Given the description of an element on the screen output the (x, y) to click on. 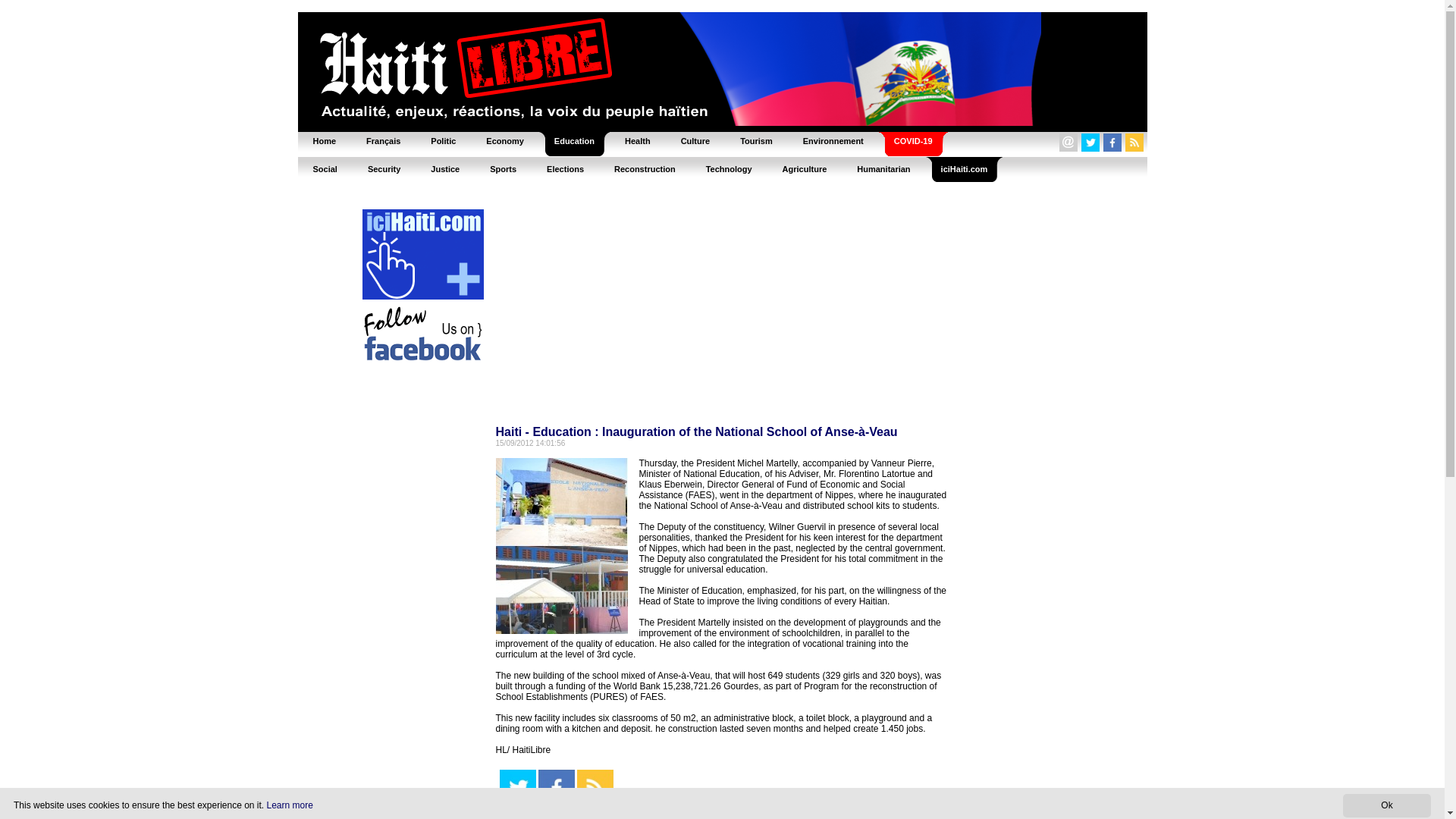
Agriculture (805, 168)
Humanitarian (882, 168)
Reconstruction (644, 168)
Security (383, 168)
Justice (444, 168)
Home (323, 141)
Security (383, 168)
Sports (502, 168)
Home (323, 141)
Education (574, 141)
